Given the description of an element on the screen output the (x, y) to click on. 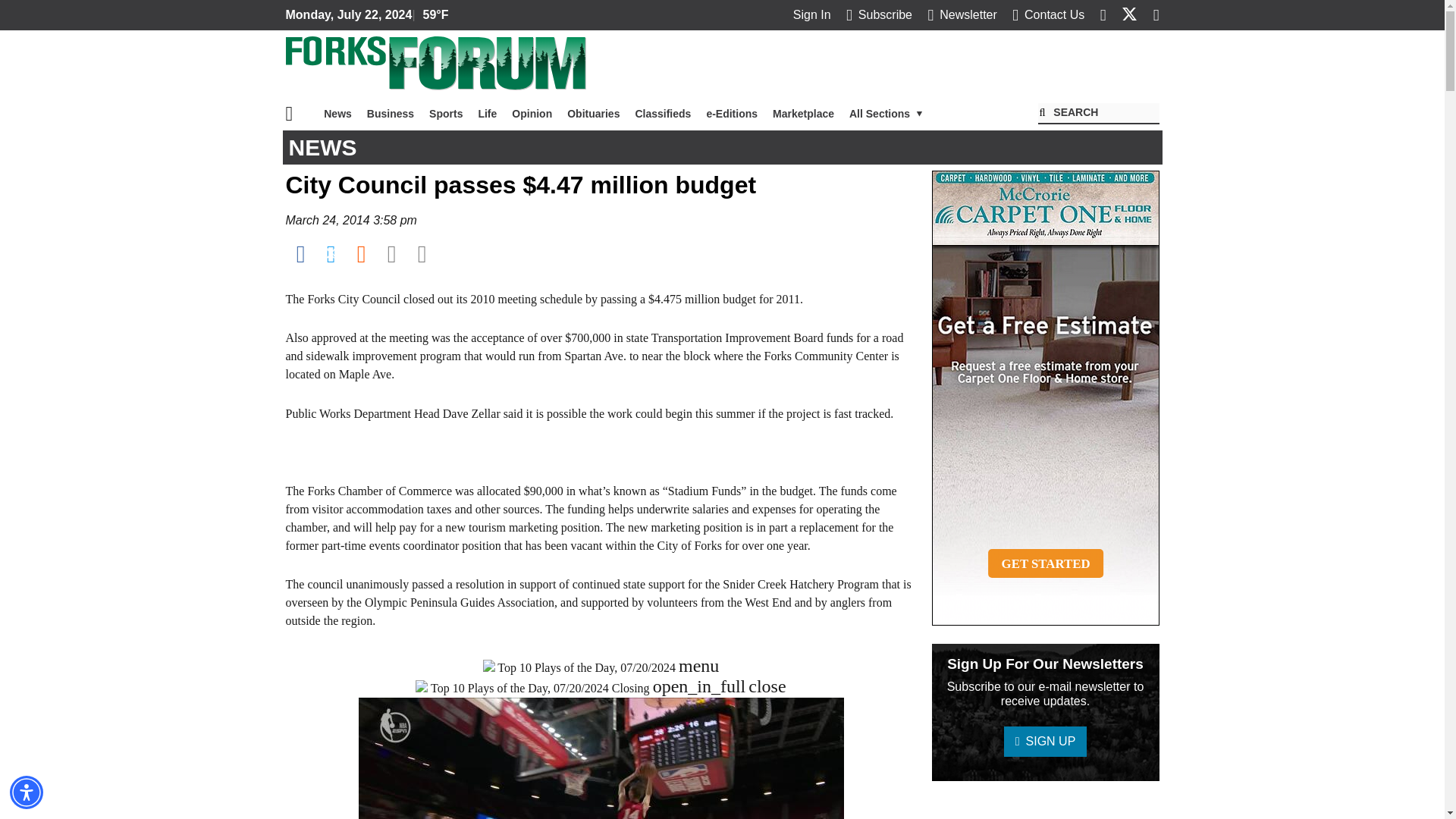
e-Editions (731, 113)
Sports (446, 113)
Current weather and forecast (431, 14)
Classifieds (662, 113)
Contact Us (1047, 14)
Accessibility Menu (26, 792)
Newsletter (961, 14)
Post to Reddit (360, 253)
Obituaries (593, 113)
Subscribe (878, 14)
Print story (421, 253)
Post to Facebook (300, 253)
Sign In (812, 14)
Search (1097, 113)
Marketplace (803, 113)
